Given the description of an element on the screen output the (x, y) to click on. 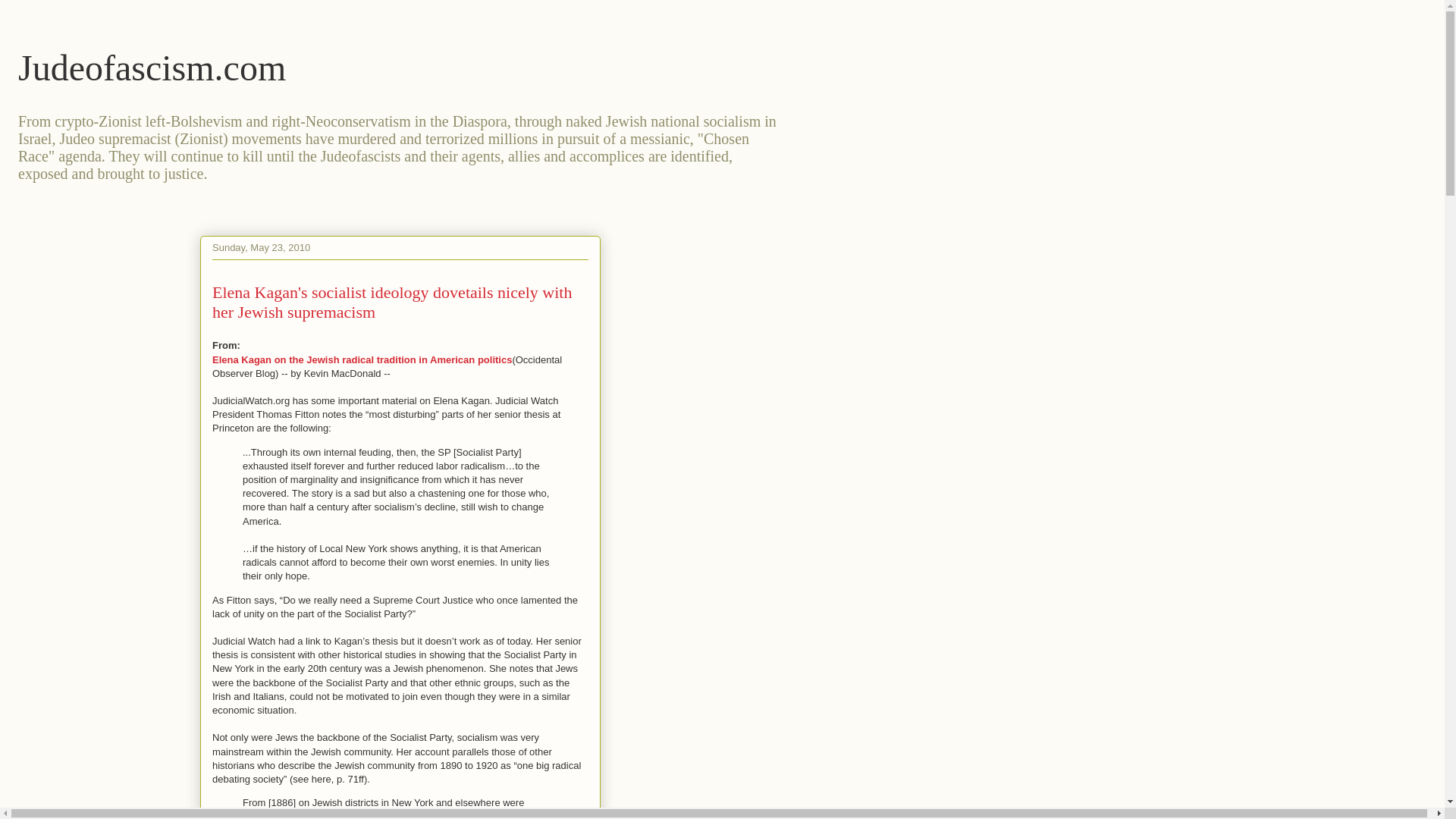
Judeofascism.com (151, 67)
